Given the description of an element on the screen output the (x, y) to click on. 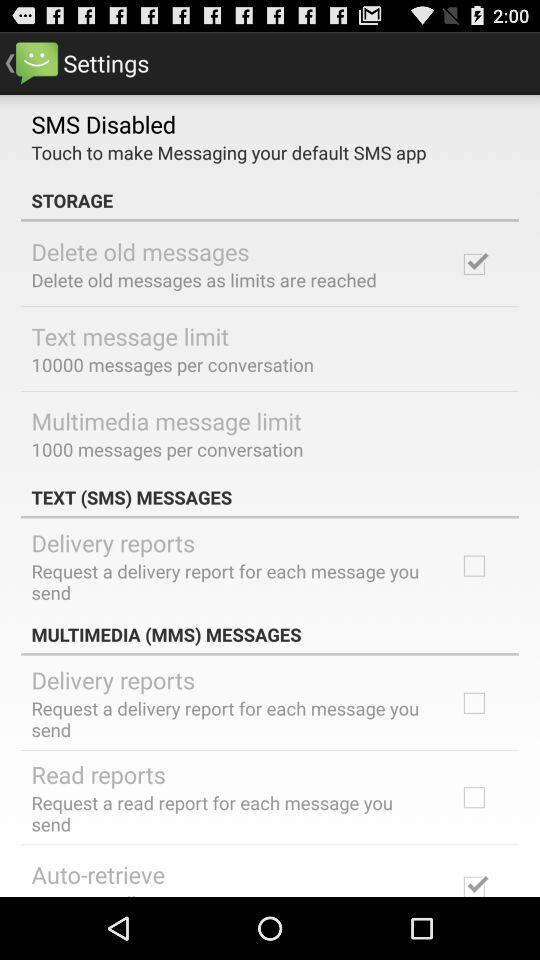
flip to the auto-retrieve item (97, 874)
